Given the description of an element on the screen output the (x, y) to click on. 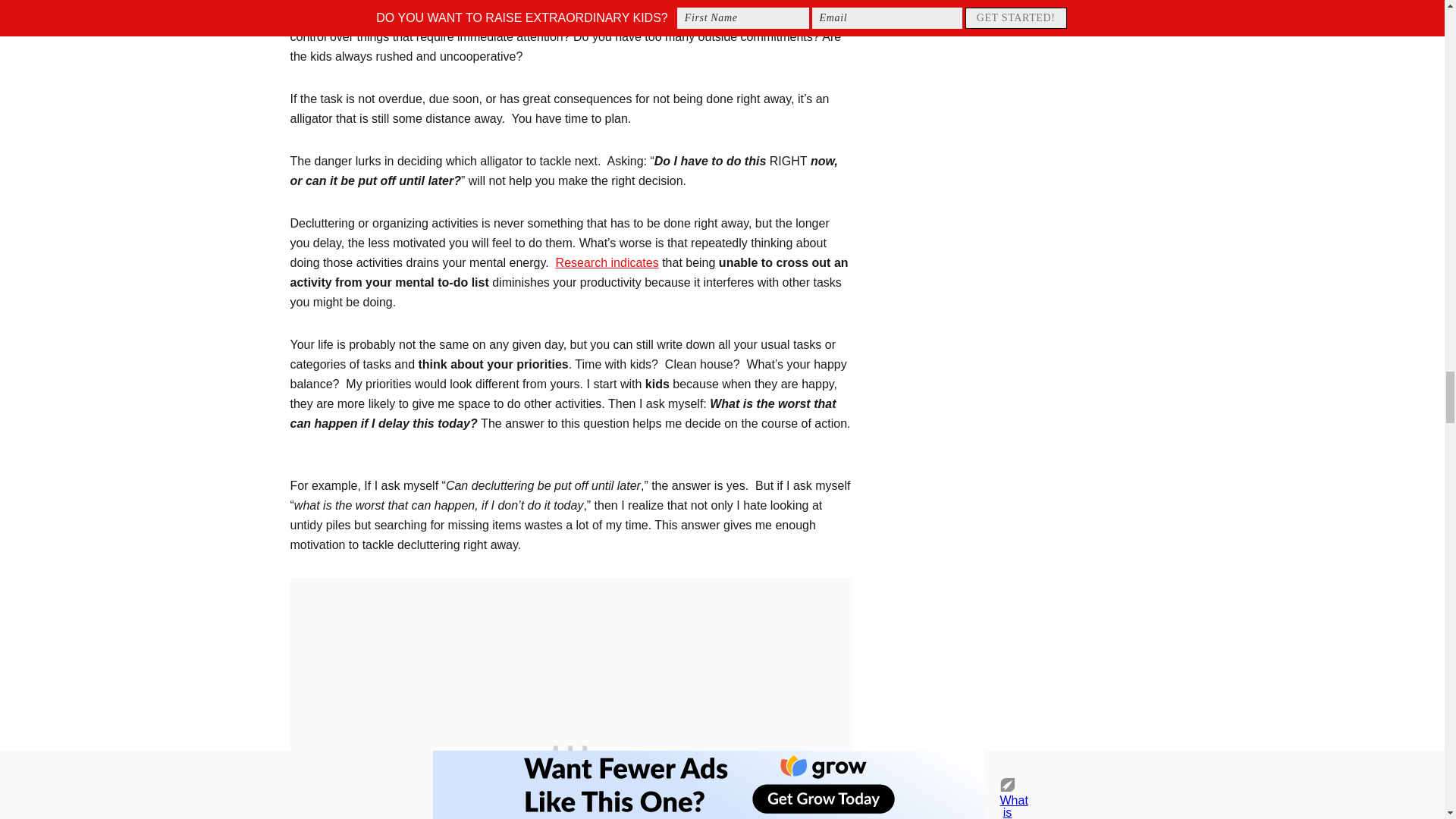
Research indicates (607, 262)
